Given the description of an element on the screen output the (x, y) to click on. 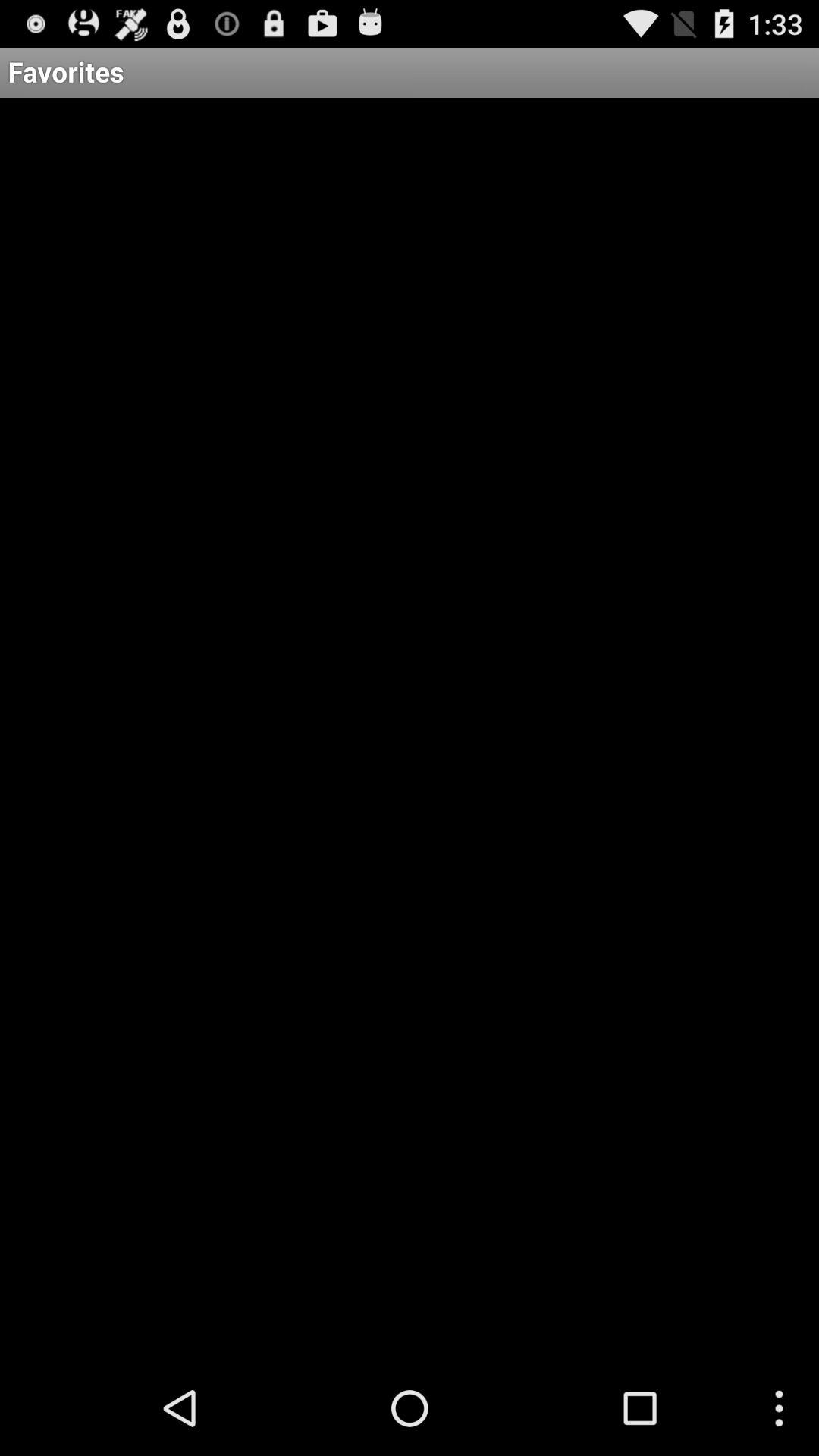
turn on icon below favorites item (409, 728)
